Given the description of an element on the screen output the (x, y) to click on. 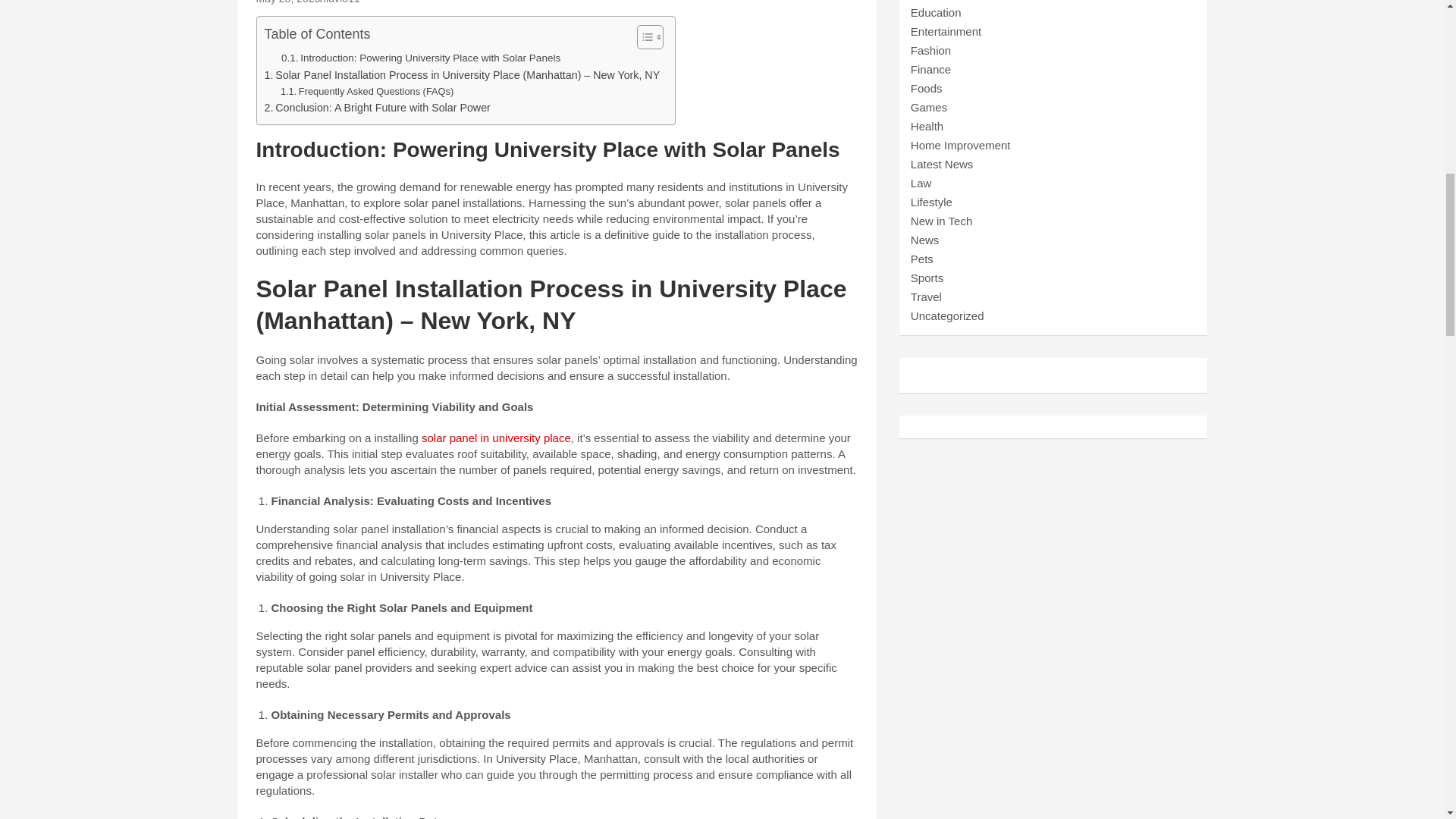
Introduction: Powering University Place with Solar Panels (420, 57)
Conclusion: A Bright Future with Solar Power (376, 108)
flavio11 (341, 2)
Introduction: Powering University Place with Solar Panels (420, 57)
May 23, 2023 (288, 2)
solar panel in university place (496, 437)
Conclusion: A Bright Future with Solar Power (376, 108)
